Given the description of an element on the screen output the (x, y) to click on. 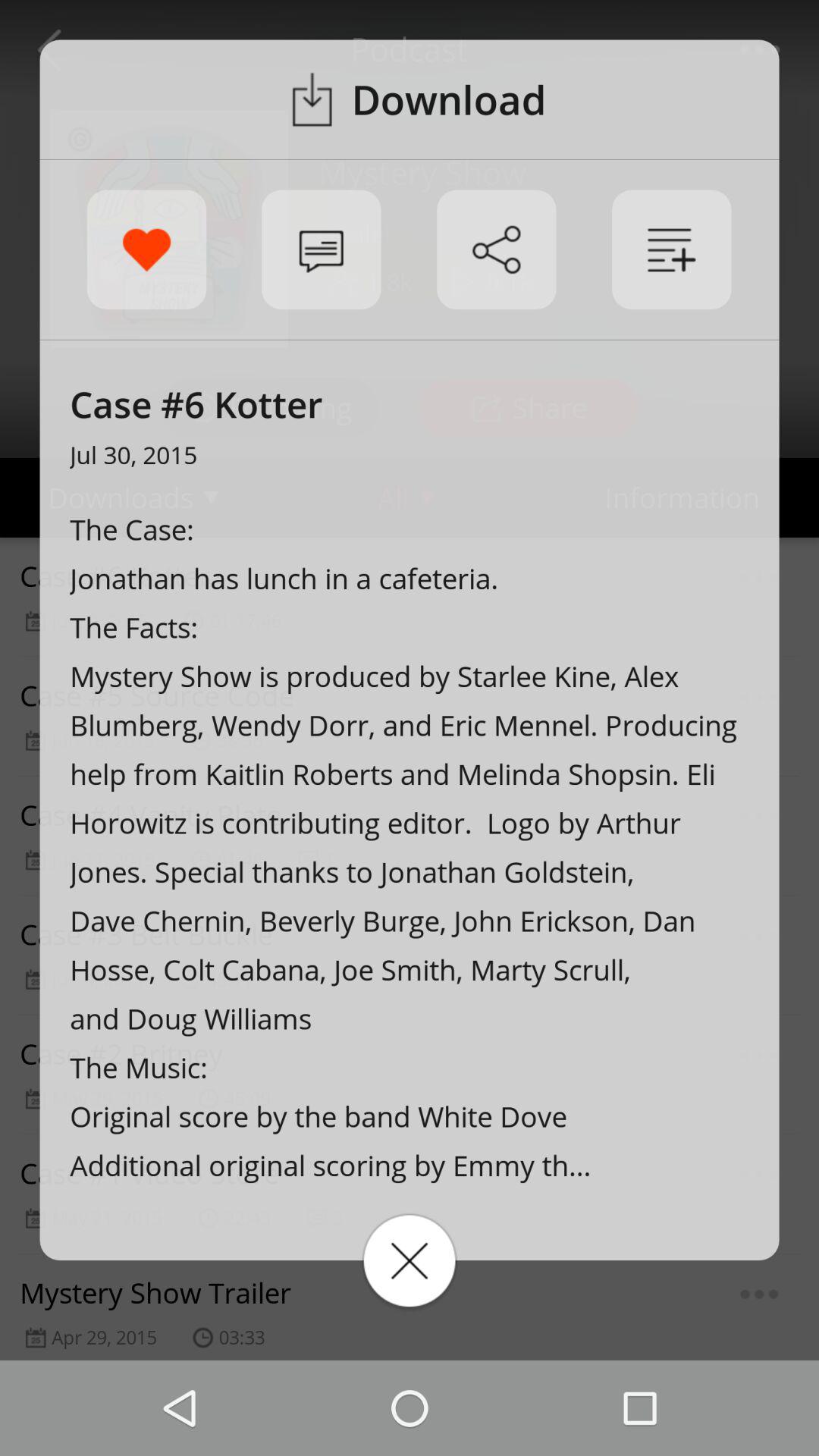
launch item at the top right corner (671, 249)
